Given the description of an element on the screen output the (x, y) to click on. 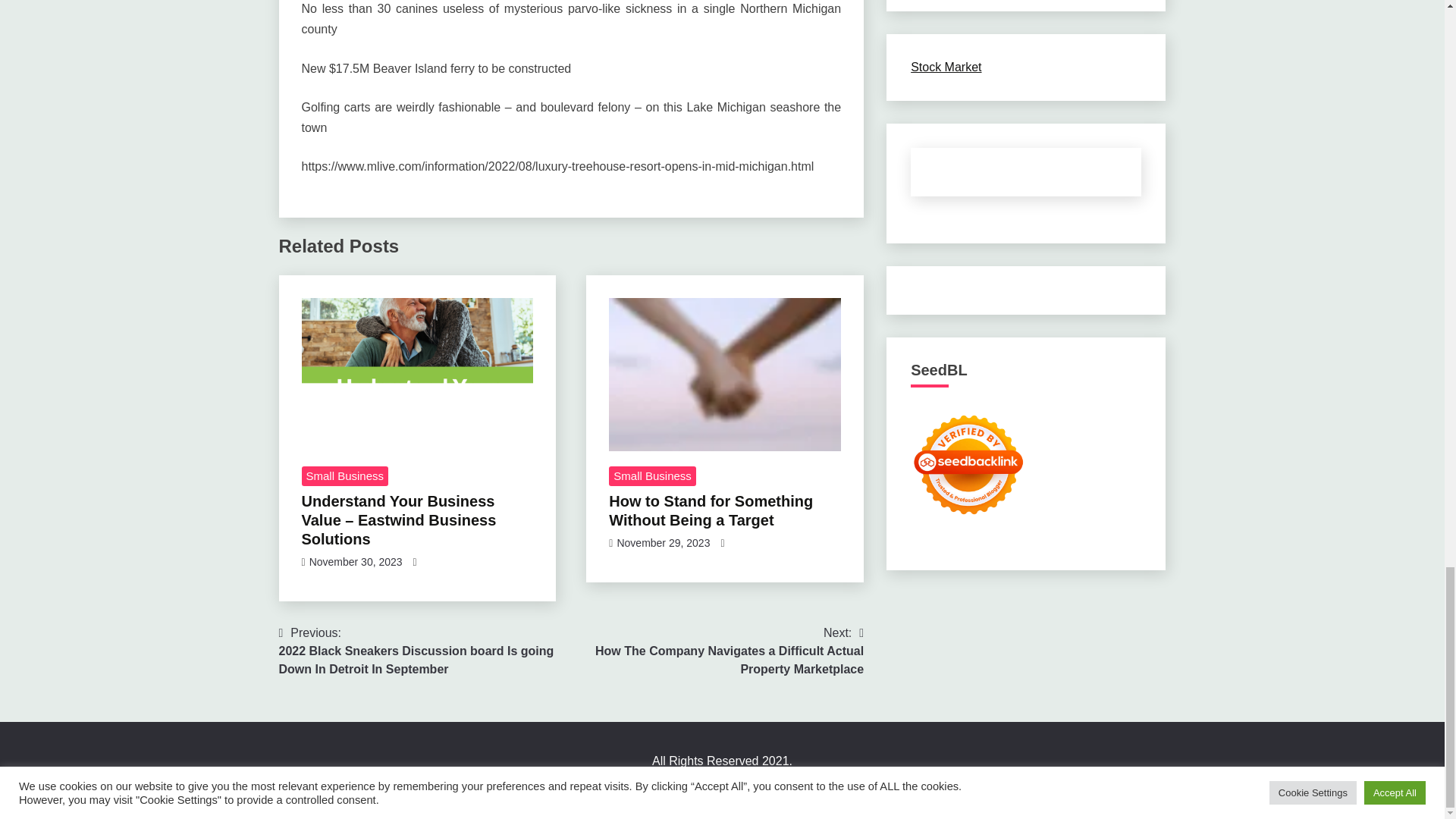
Small Business (344, 476)
November 30, 2023 (355, 562)
November 29, 2023 (662, 542)
How to Stand for Something Without Being a Target (710, 510)
Seedbacklink (968, 464)
How to Stand for Something Without Being a Target (724, 374)
Small Business (651, 476)
